Given the description of an element on the screen output the (x, y) to click on. 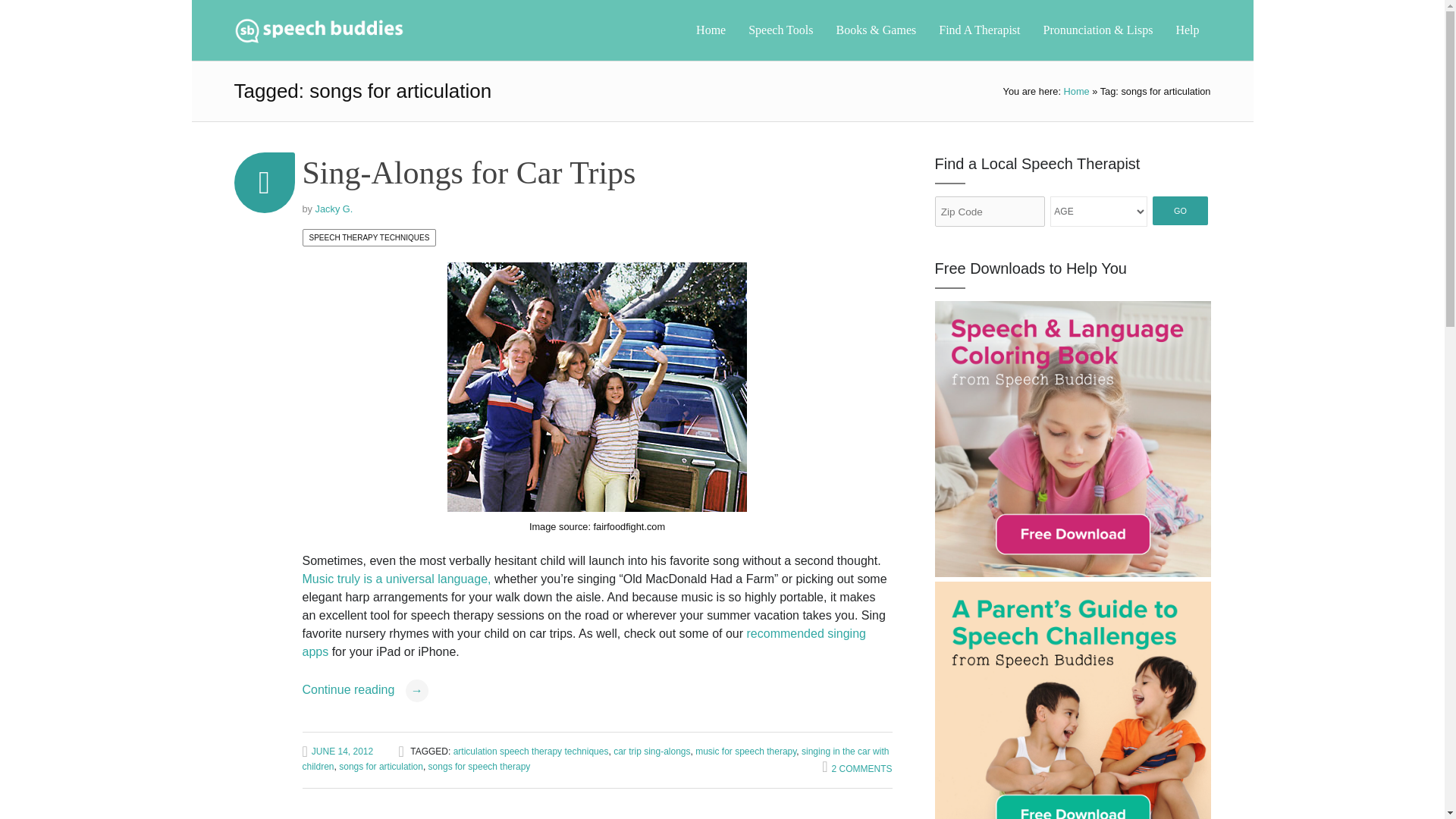
Chevy Chase on "Vacation" Road Trip (596, 386)
Jacky G. (334, 208)
articulation speech therapy techniques (530, 751)
Language of Music Really Is Universal (395, 578)
music for speech therapy (745, 751)
songs for articulation (381, 766)
4:04 pm (336, 751)
View all posts by Jacky G. (334, 208)
car trip sing-alongs (651, 751)
Home (1076, 91)
Home (710, 30)
Find A Therapist (979, 30)
2 COMMENTS (856, 767)
songs for speech therapy (479, 766)
JUNE 14, 2012 (336, 751)
